Given the description of an element on the screen output the (x, y) to click on. 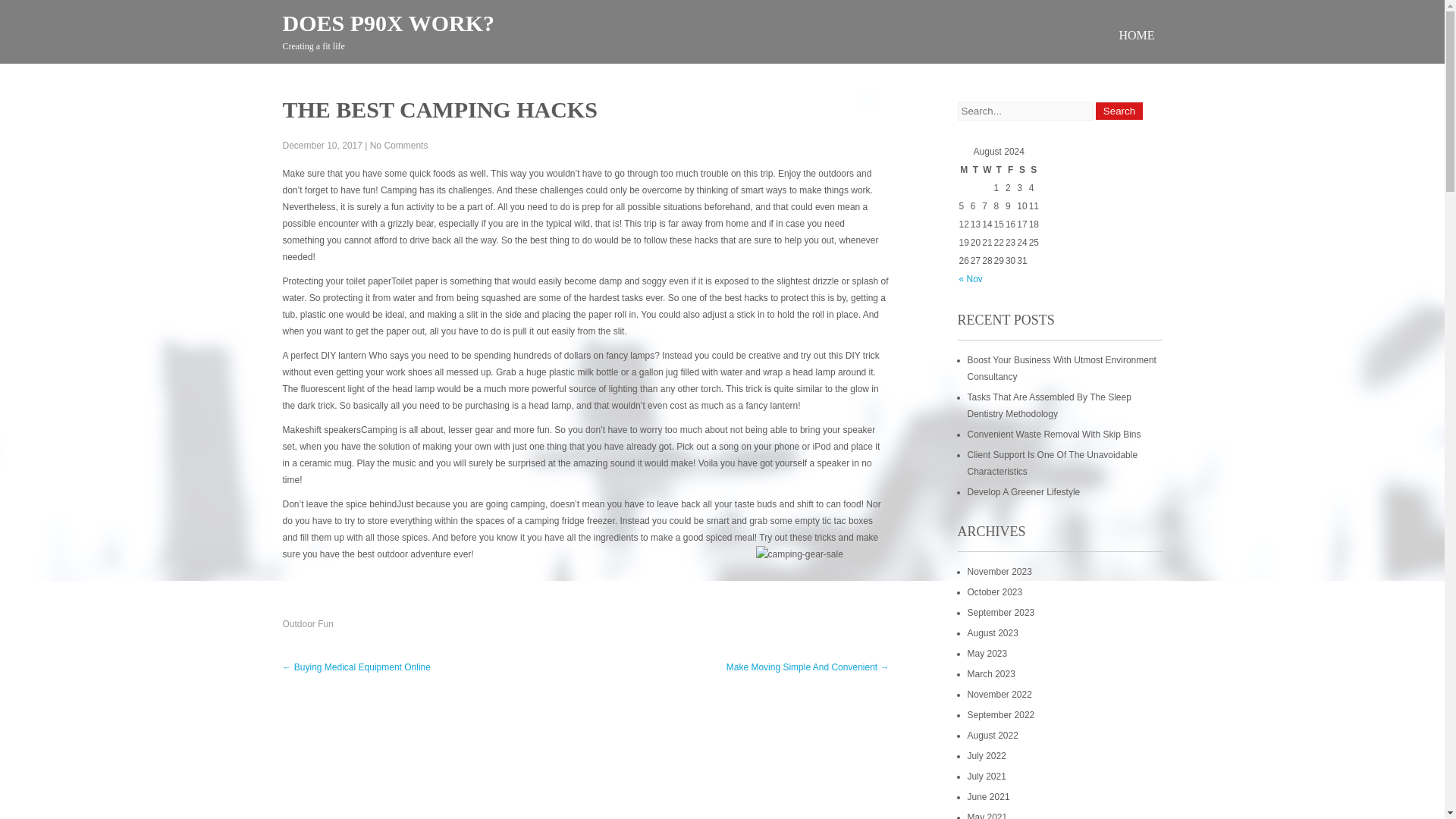
November 2023 (1000, 571)
July 2022 (987, 756)
Sunday (1034, 169)
DOES P90X WORK? (387, 23)
Wednesday (986, 169)
May 2021 (987, 815)
Tasks That Are Assembled By The Sleep Dentistry Methodology (1049, 405)
August 2023 (992, 633)
Search (1119, 110)
Boost Your Business With Utmost Environment Consultancy (1062, 368)
July 2021 (987, 776)
Thursday (999, 169)
May 2023 (987, 653)
November 2022 (1000, 694)
HOME (1135, 35)
